Given the description of an element on the screen output the (x, y) to click on. 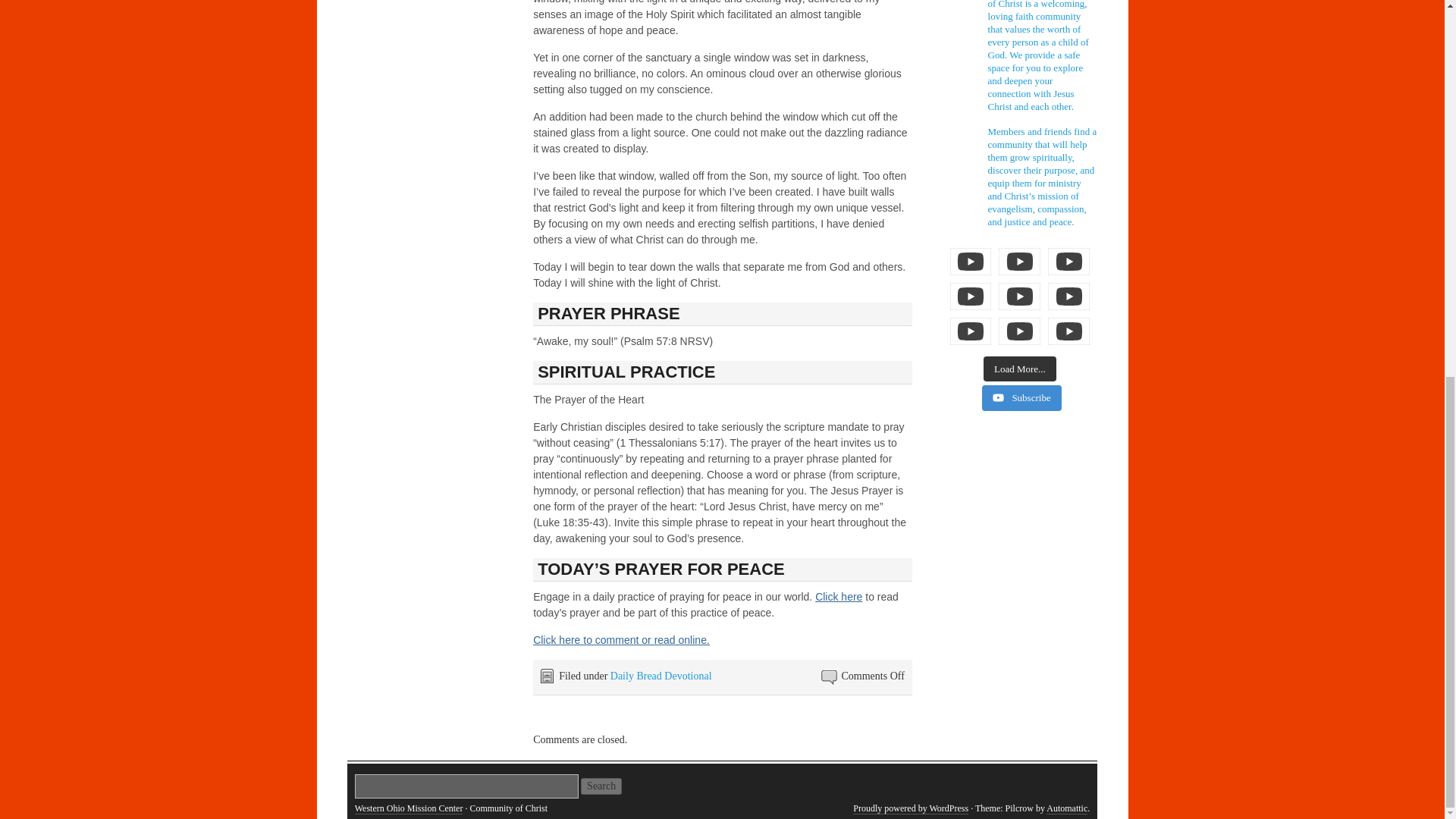
Click here to comment or read online. (621, 639)
Click here (838, 596)
Western Ohio Mission Center (409, 808)
Search (600, 786)
Daily Bread Devotional (660, 675)
A Semantic Personal Publishing Platform (910, 808)
